Given the description of an element on the screen output the (x, y) to click on. 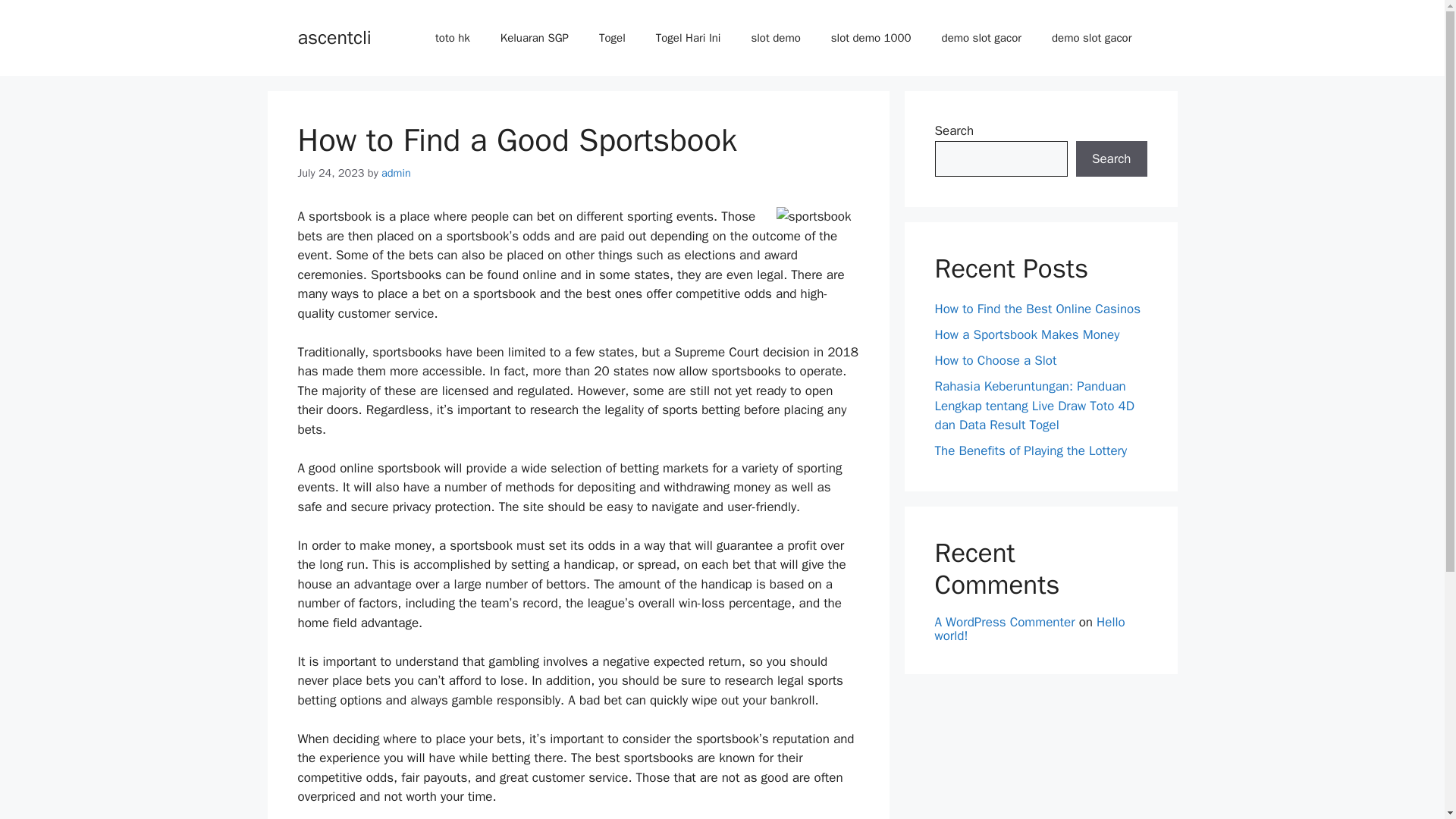
toto hk (452, 37)
A WordPress Commenter (1004, 621)
View all posts by admin (395, 172)
Keluaran SGP (533, 37)
ascentcli (334, 37)
demo slot gacor (1091, 37)
Togel Hari Ini (688, 37)
Hello world! (1029, 629)
Search (1111, 158)
